Given the description of an element on the screen output the (x, y) to click on. 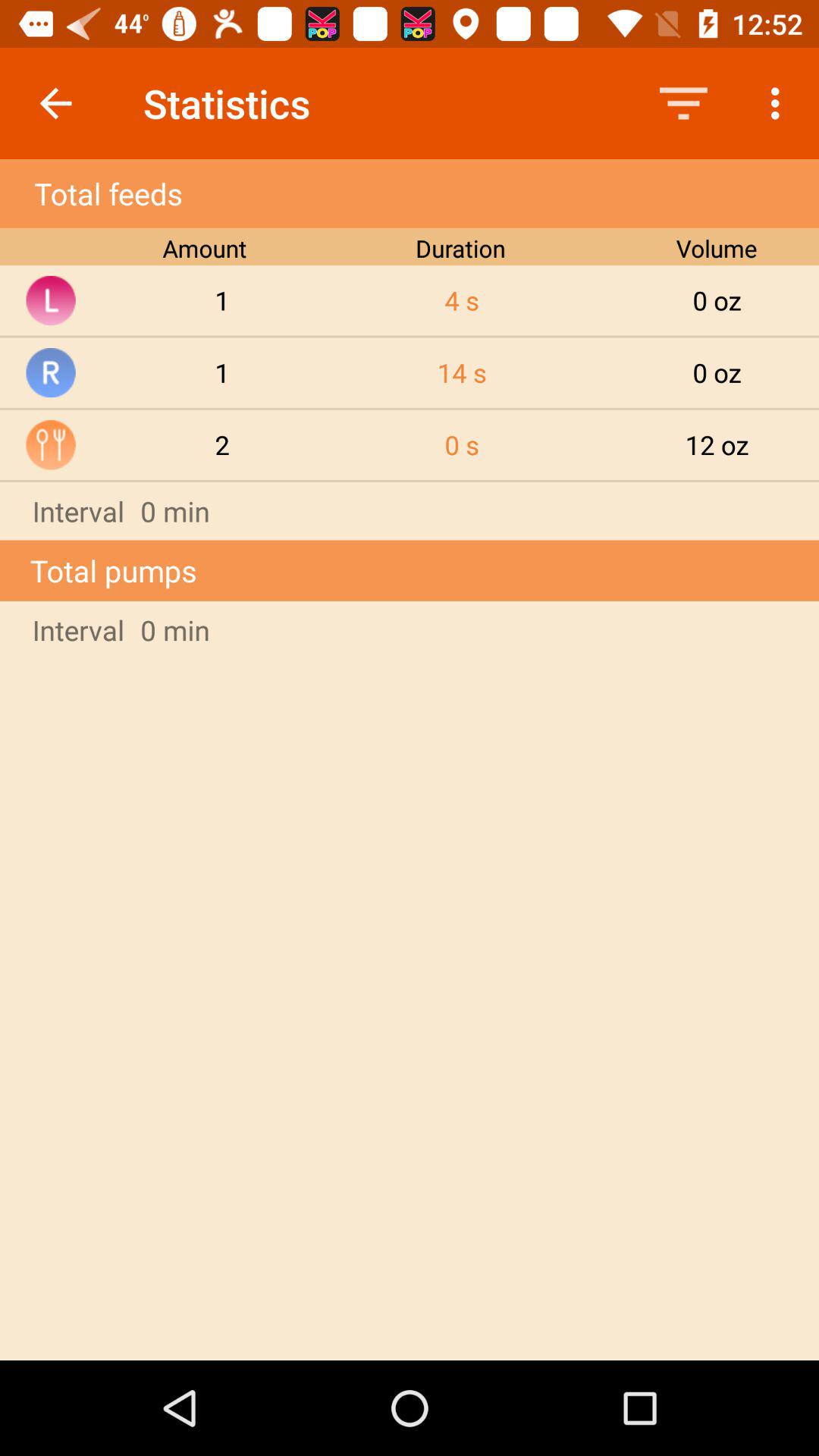
turn off the icon above 0 s icon (461, 372)
